Given the description of an element on the screen output the (x, y) to click on. 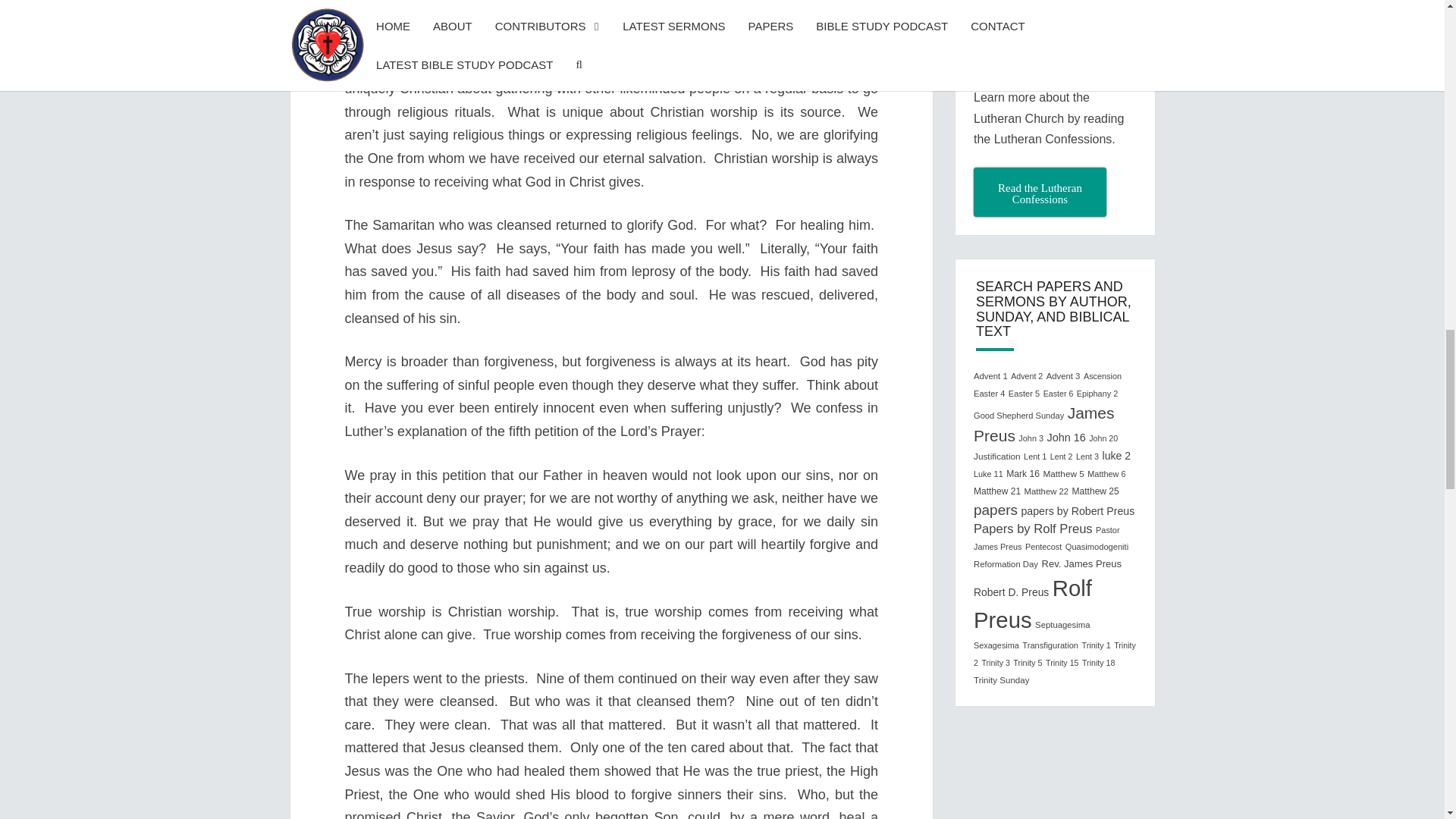
Read the Lutheran Confessions (1040, 192)
The Lutheran Confessions: The Book of Concord Online (1040, 192)
Advent 1 (990, 375)
